Given the description of an element on the screen output the (x, y) to click on. 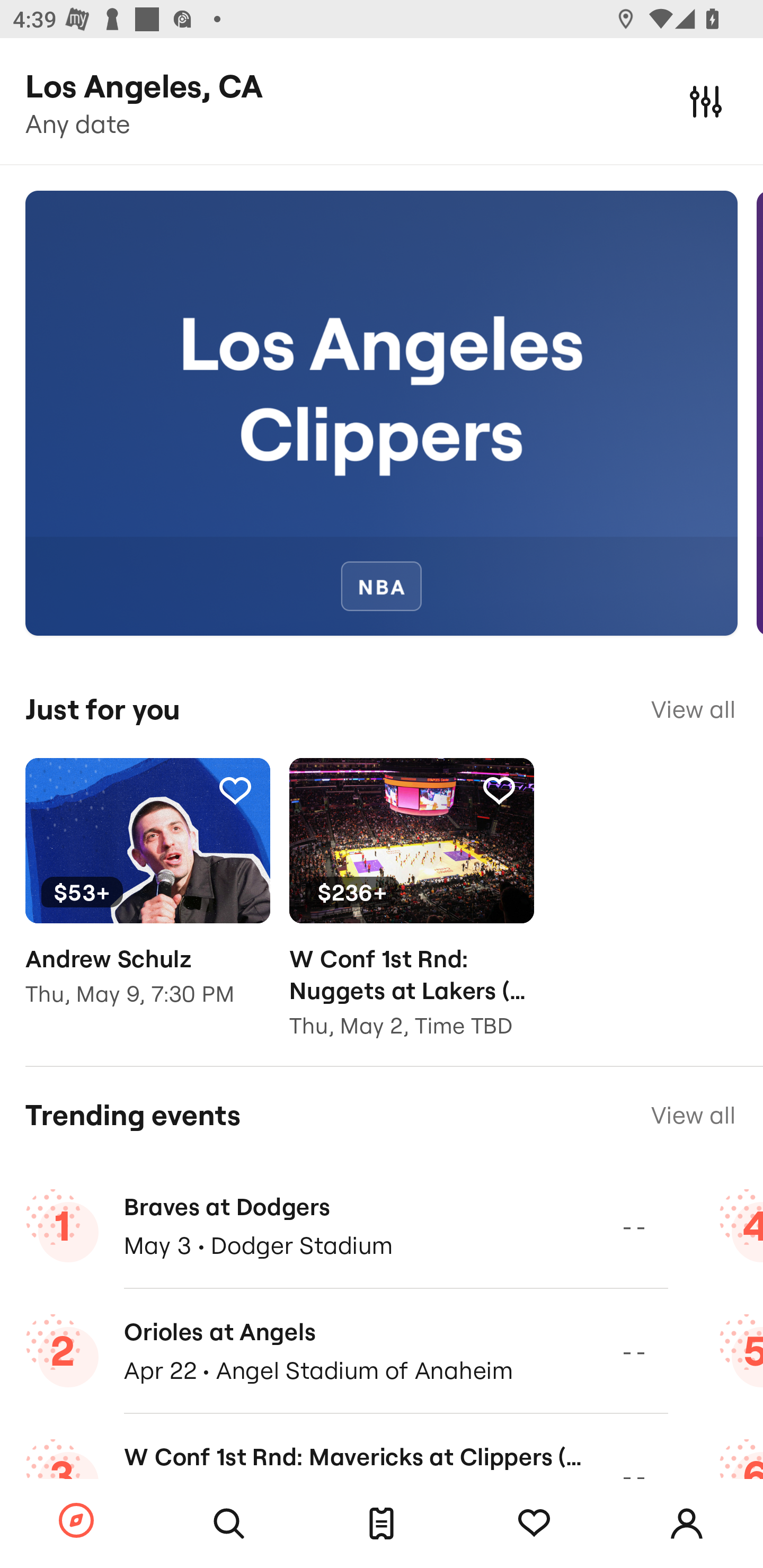
Filters (705, 100)
View all (693, 709)
Tracking $53+ Andrew Schulz Thu, May 9, 7:30 PM (147, 895)
Tracking (234, 790)
Tracking (498, 790)
View all (693, 1114)
Browse (76, 1521)
Search (228, 1523)
Tickets (381, 1523)
Tracking (533, 1523)
Account (686, 1523)
